Given the description of an element on the screen output the (x, y) to click on. 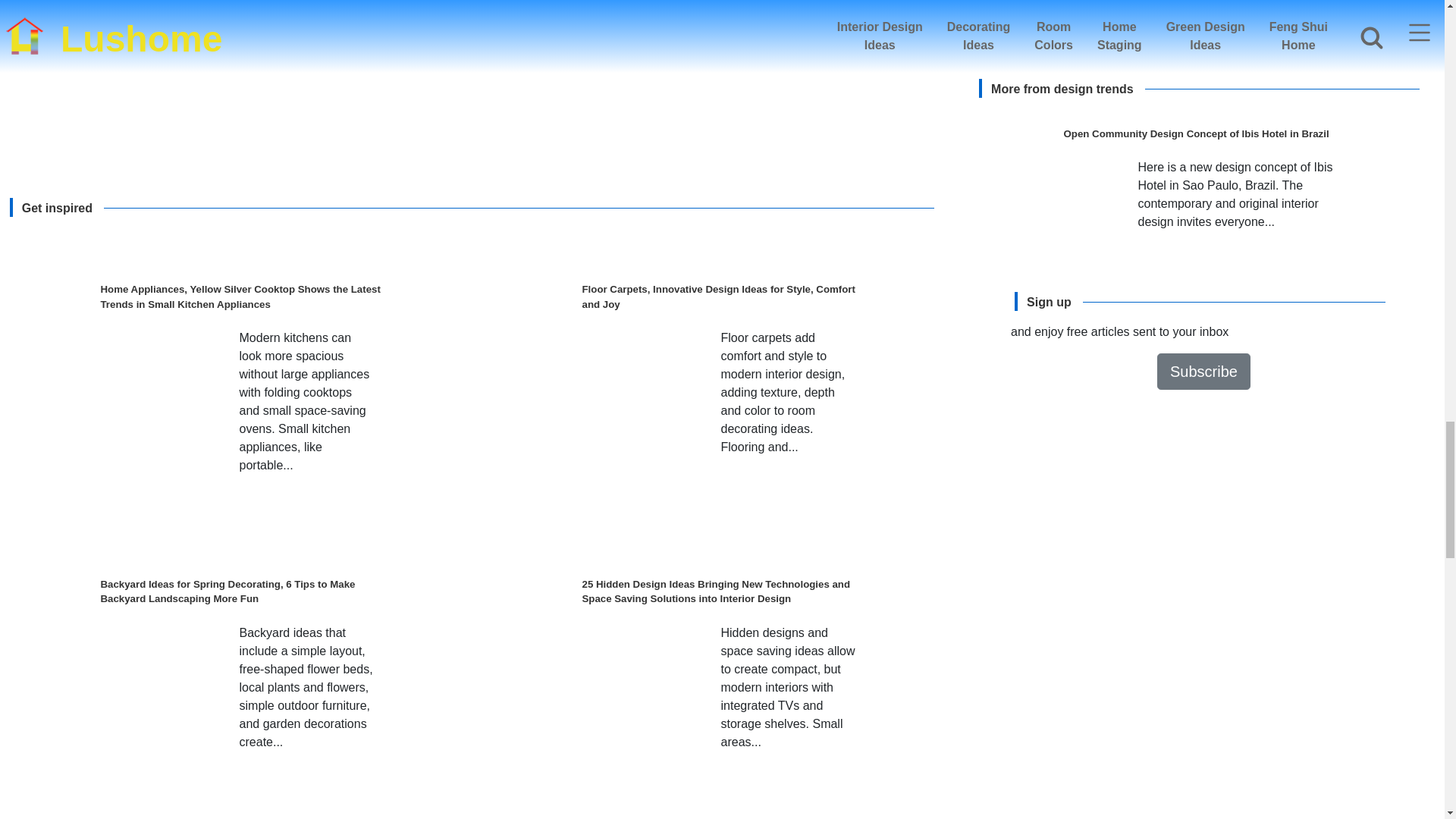
Advertisement (481, 74)
